Given the description of an element on the screen output the (x, y) to click on. 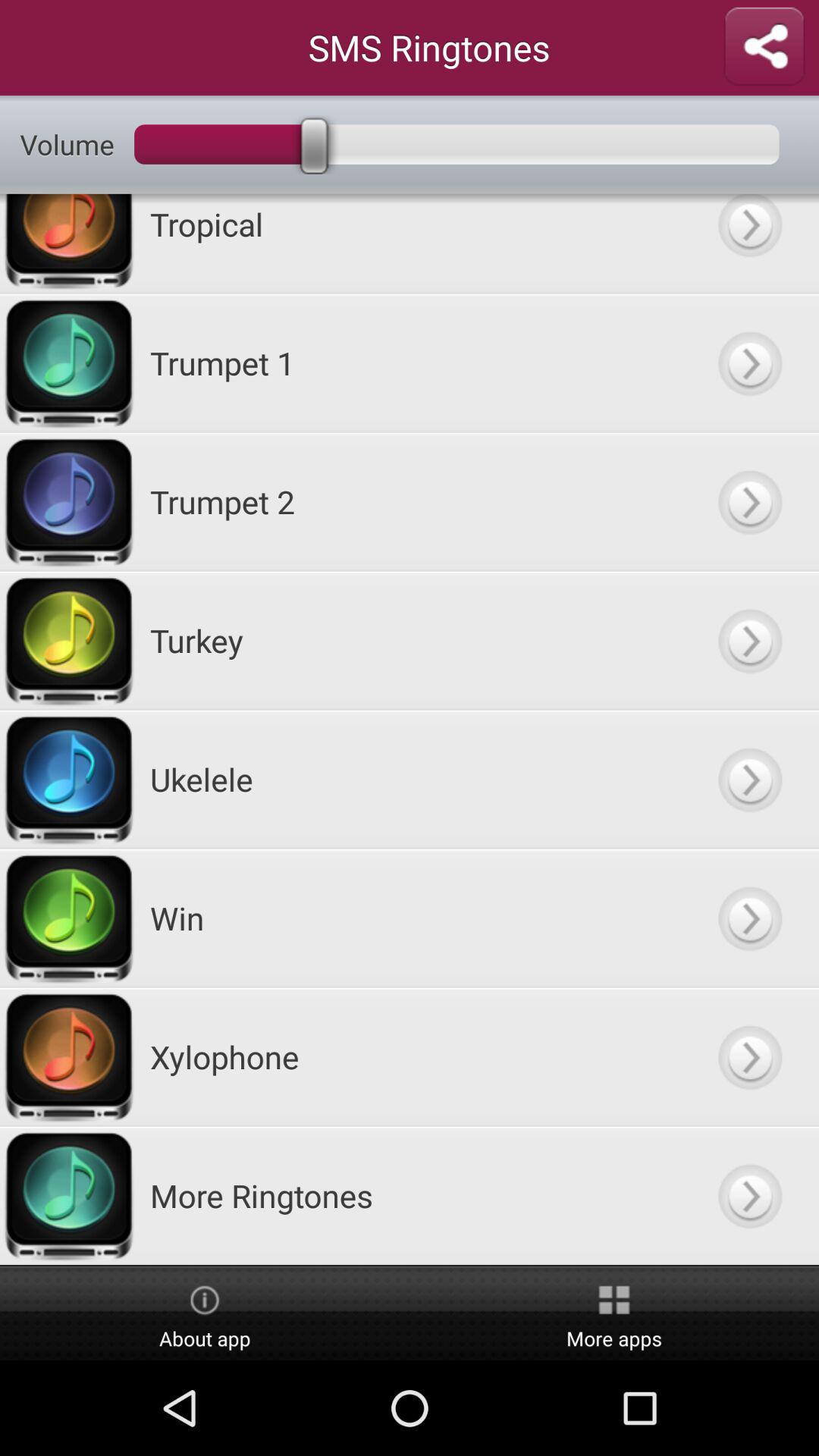
navigate to win (749, 918)
